Given the description of an element on the screen output the (x, y) to click on. 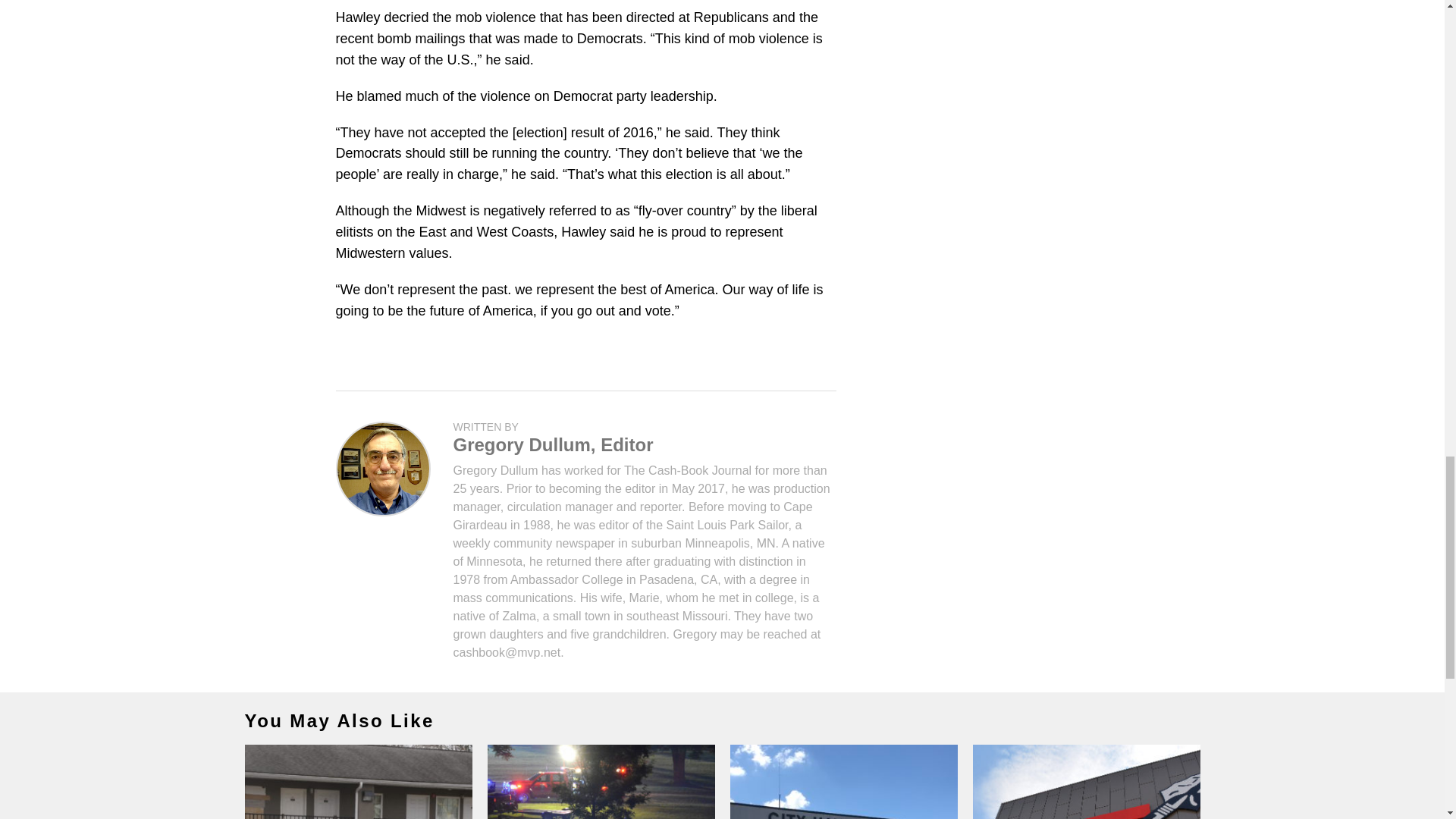
Posts by Gregory Dullum, Editor (552, 444)
